Given the description of an element on the screen output the (x, y) to click on. 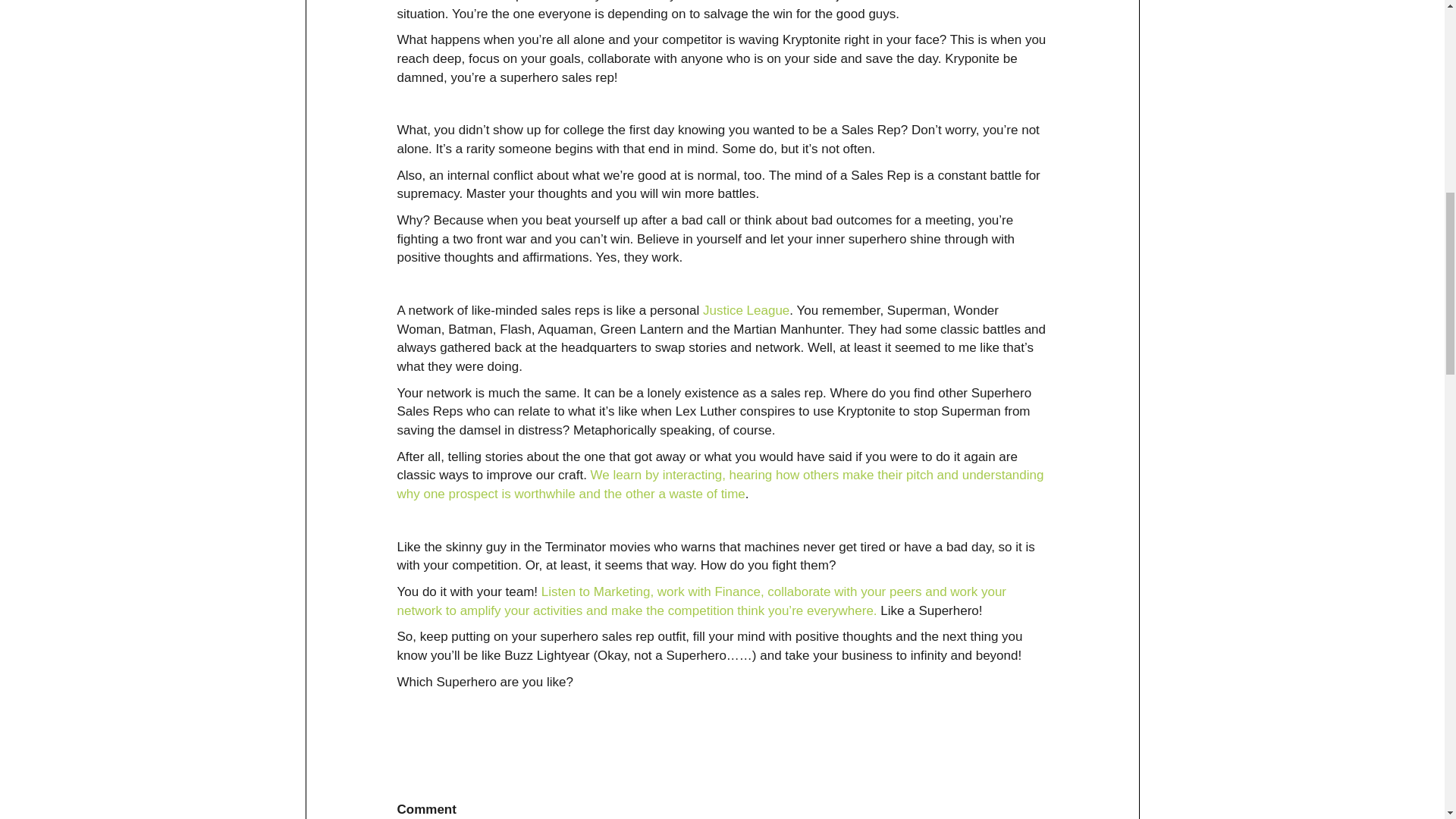
Justice League (746, 310)
